Given the description of an element on the screen output the (x, y) to click on. 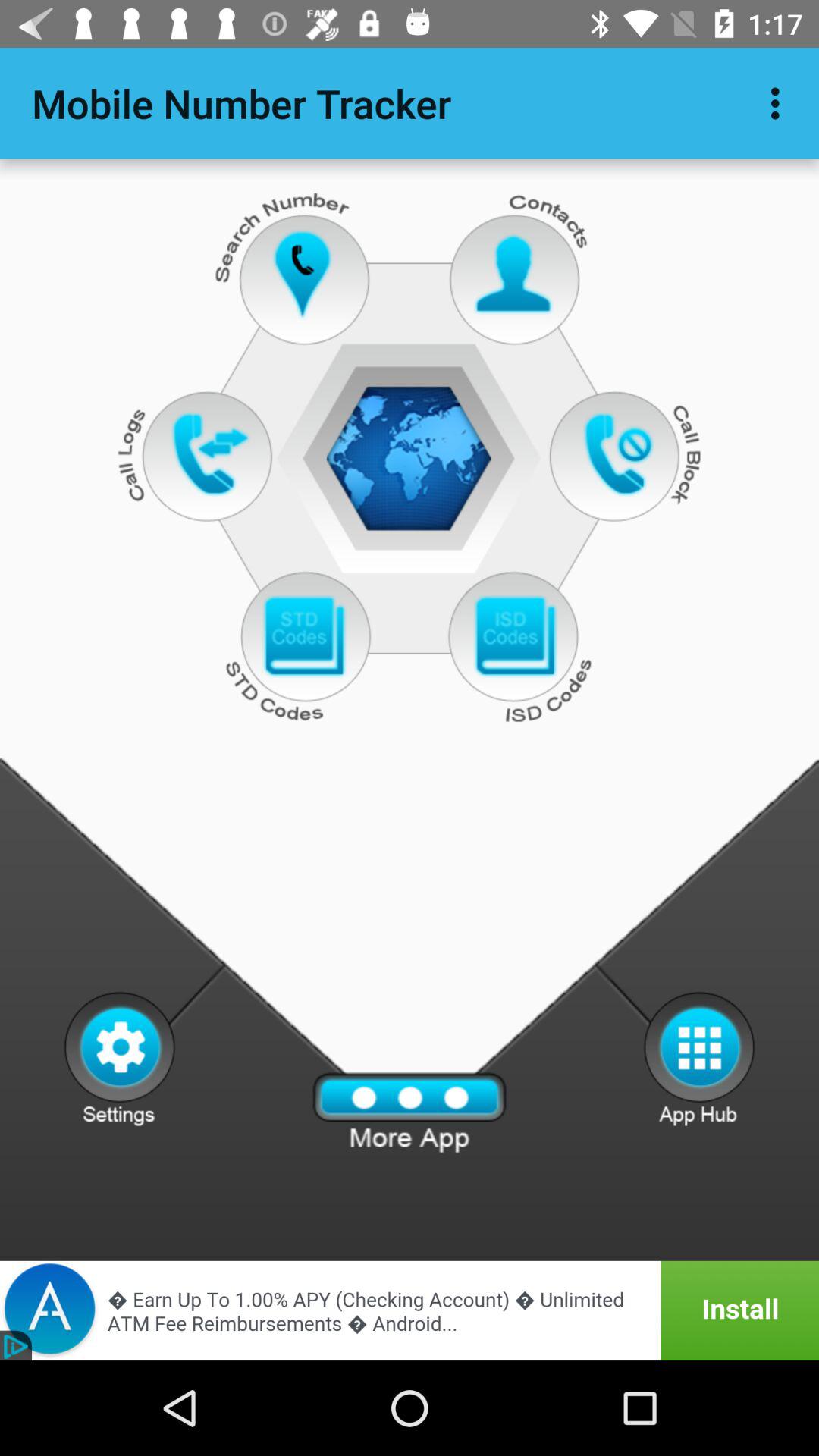
open std codes (303, 637)
